Given the description of an element on the screen output the (x, y) to click on. 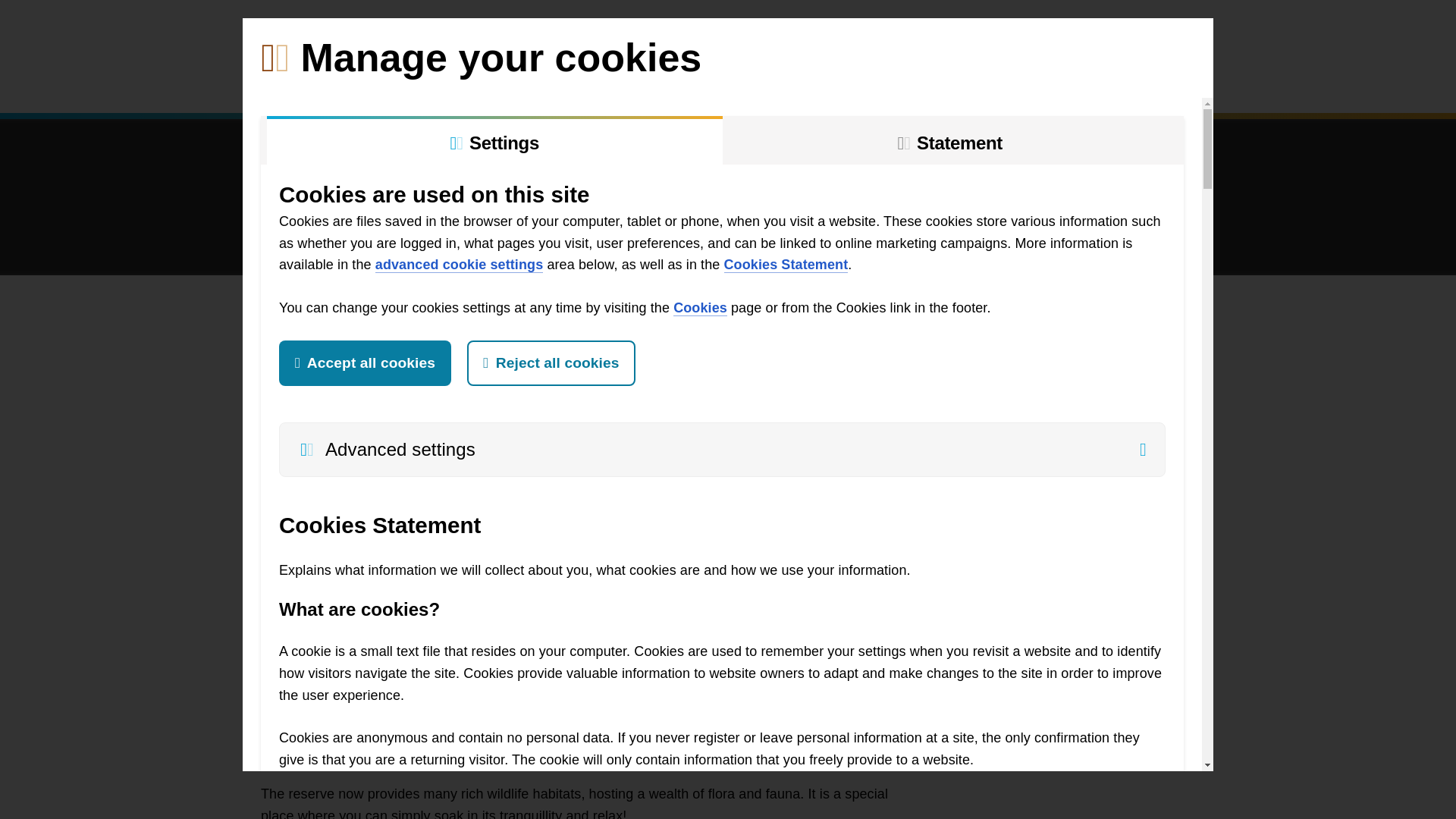
Contact (1039, 83)
Home (283, 83)
Countryside (538, 83)
Directory of beaches, parks and reserves in the East Riding (1185, 32)
Conservation and Safety (687, 83)
Coast (443, 83)
List of East Riding Culture and Leisure sites (379, 33)
Volunteering (356, 83)
What's on (831, 83)
